Given the description of an element on the screen output the (x, y) to click on. 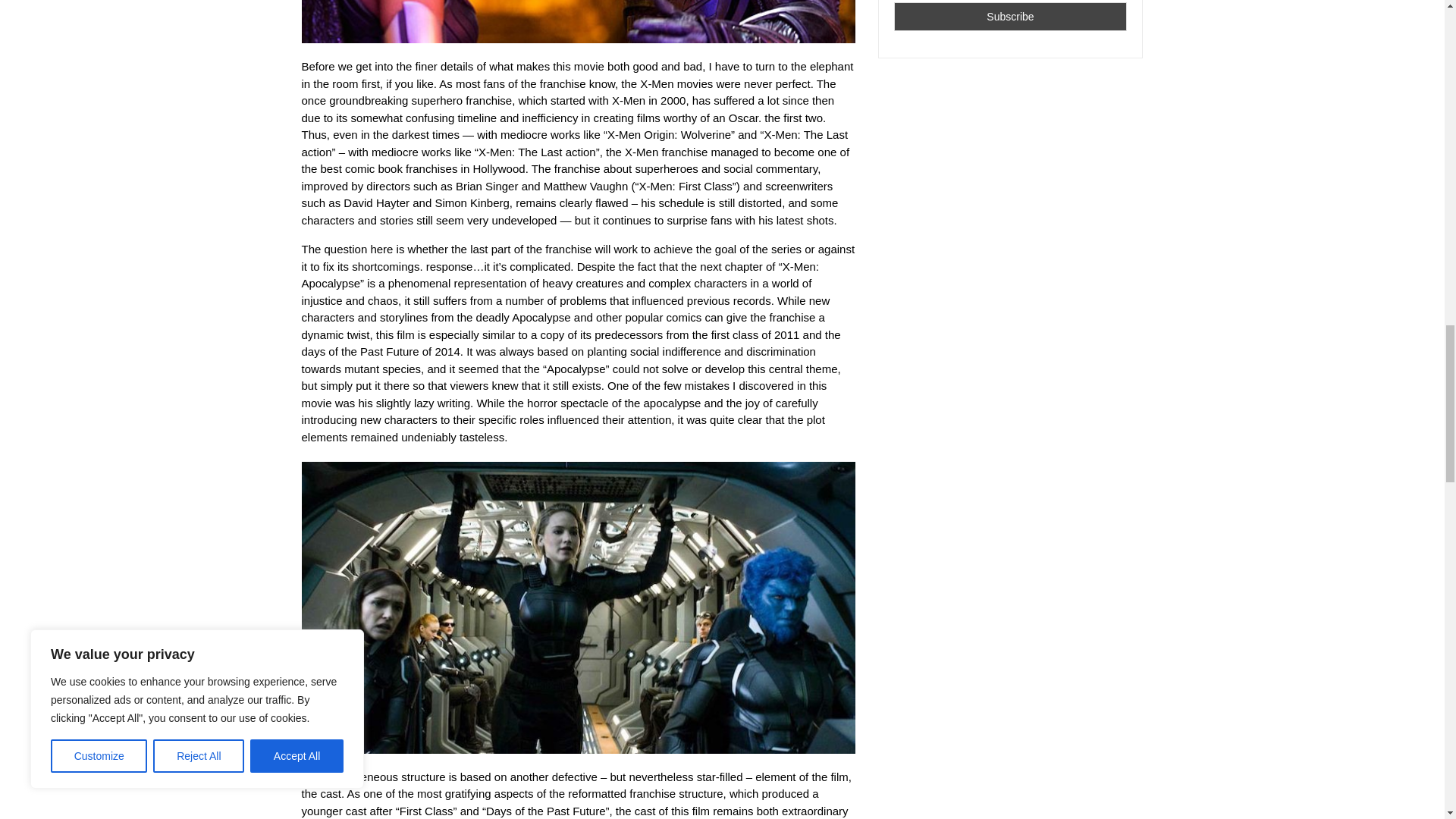
Subscribe (1009, 16)
